Given the description of an element on the screen output the (x, y) to click on. 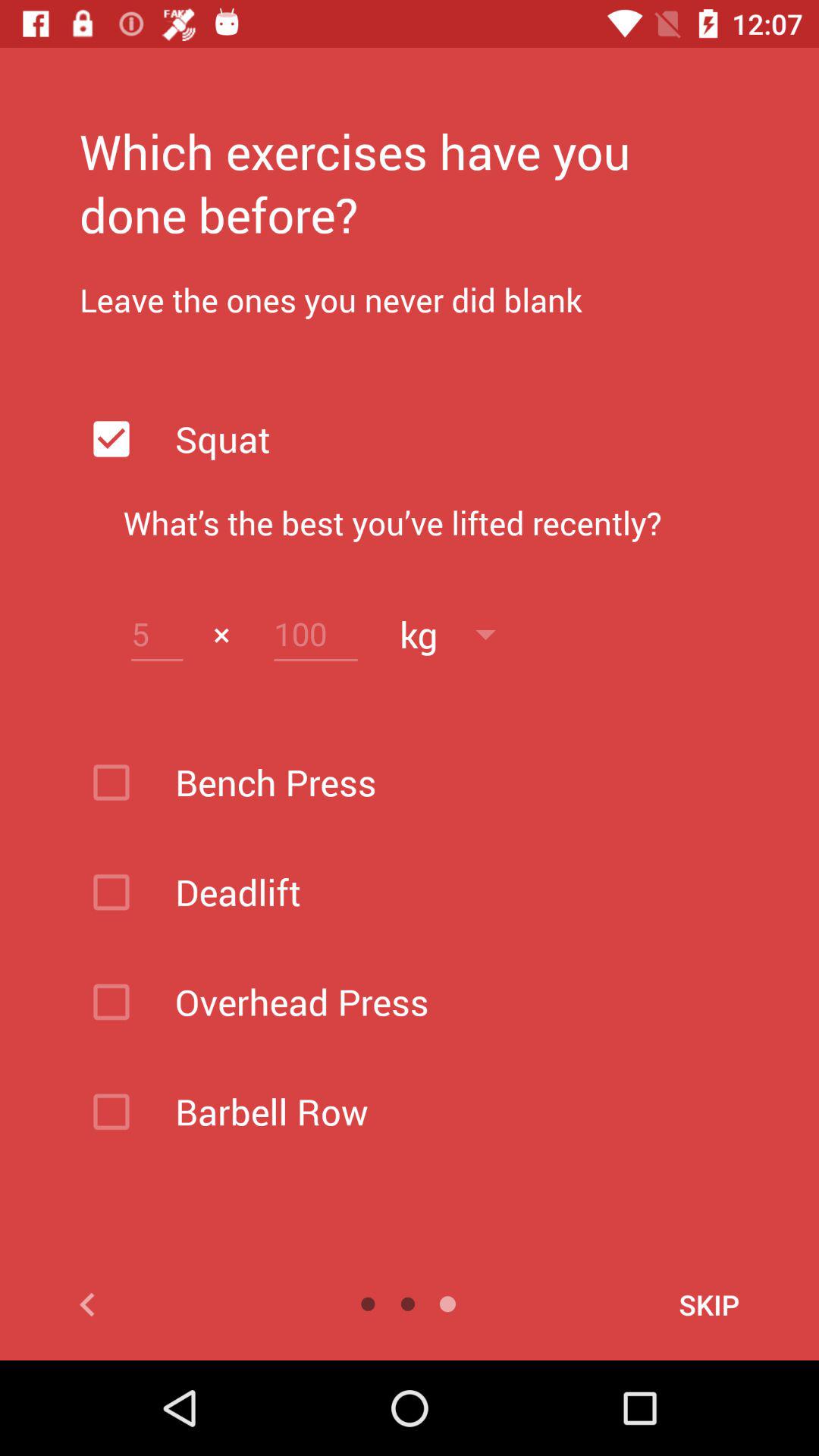
go to previous (160, 1304)
